Given the description of an element on the screen output the (x, y) to click on. 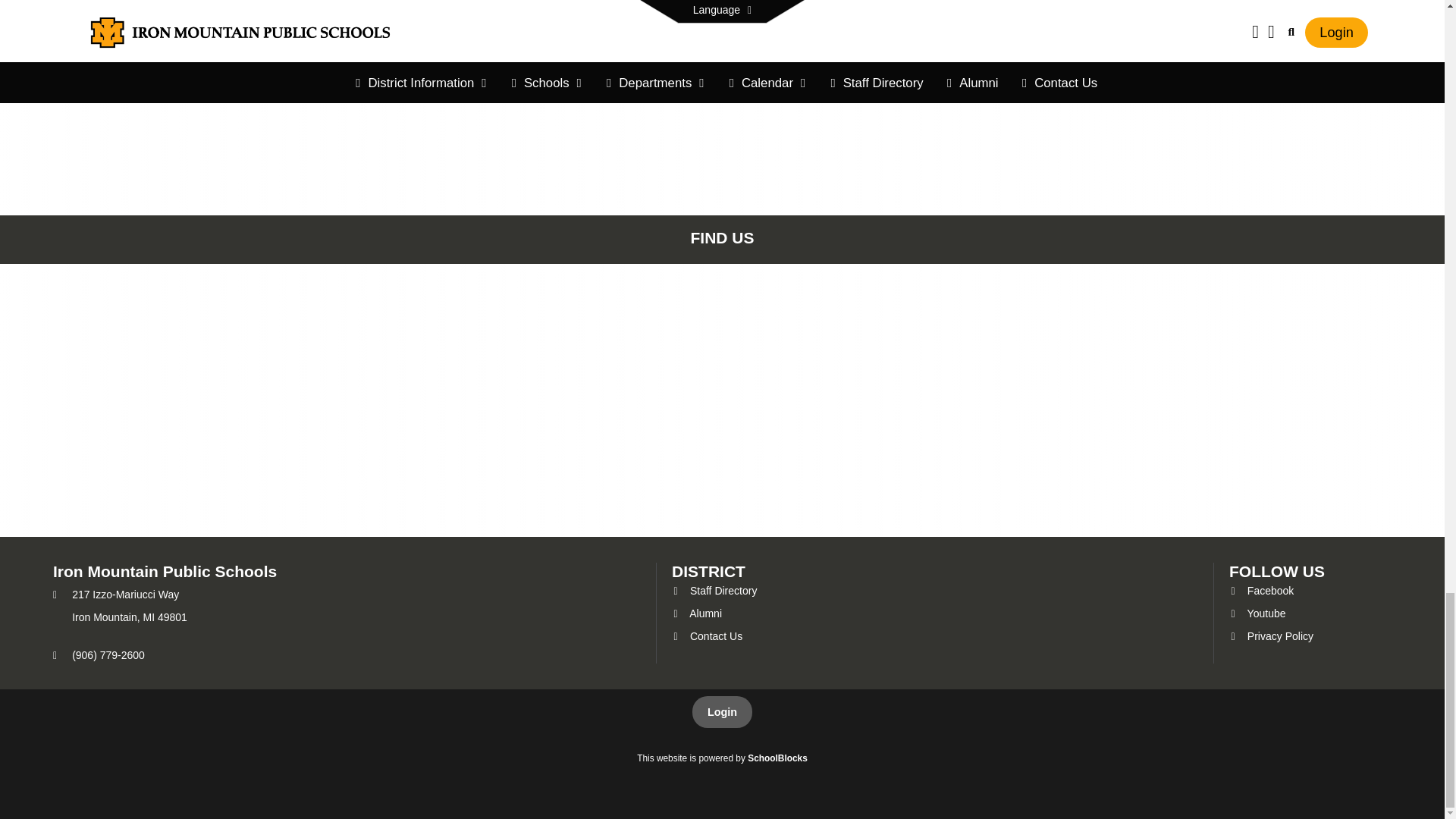
Privacy Policy (1270, 635)
Alumni (696, 613)
Facebook (1261, 590)
Contact Us (706, 635)
Staff Directory (714, 590)
Youtube (1256, 613)
